Given the description of an element on the screen output the (x, y) to click on. 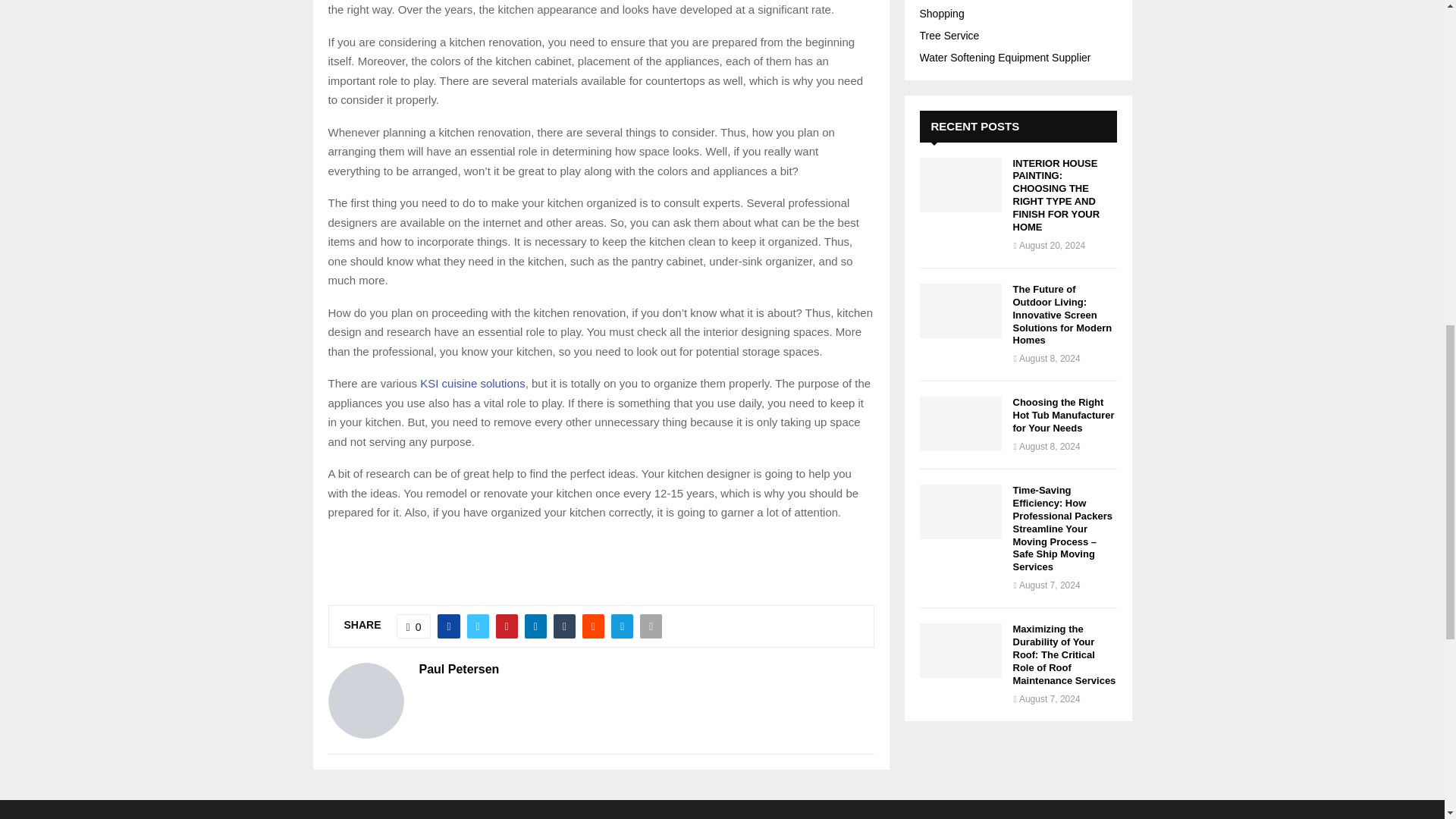
Like (413, 626)
Posts by Paul Petersen (459, 668)
KSI cuisine solutions (472, 382)
